Given the description of an element on the screen output the (x, y) to click on. 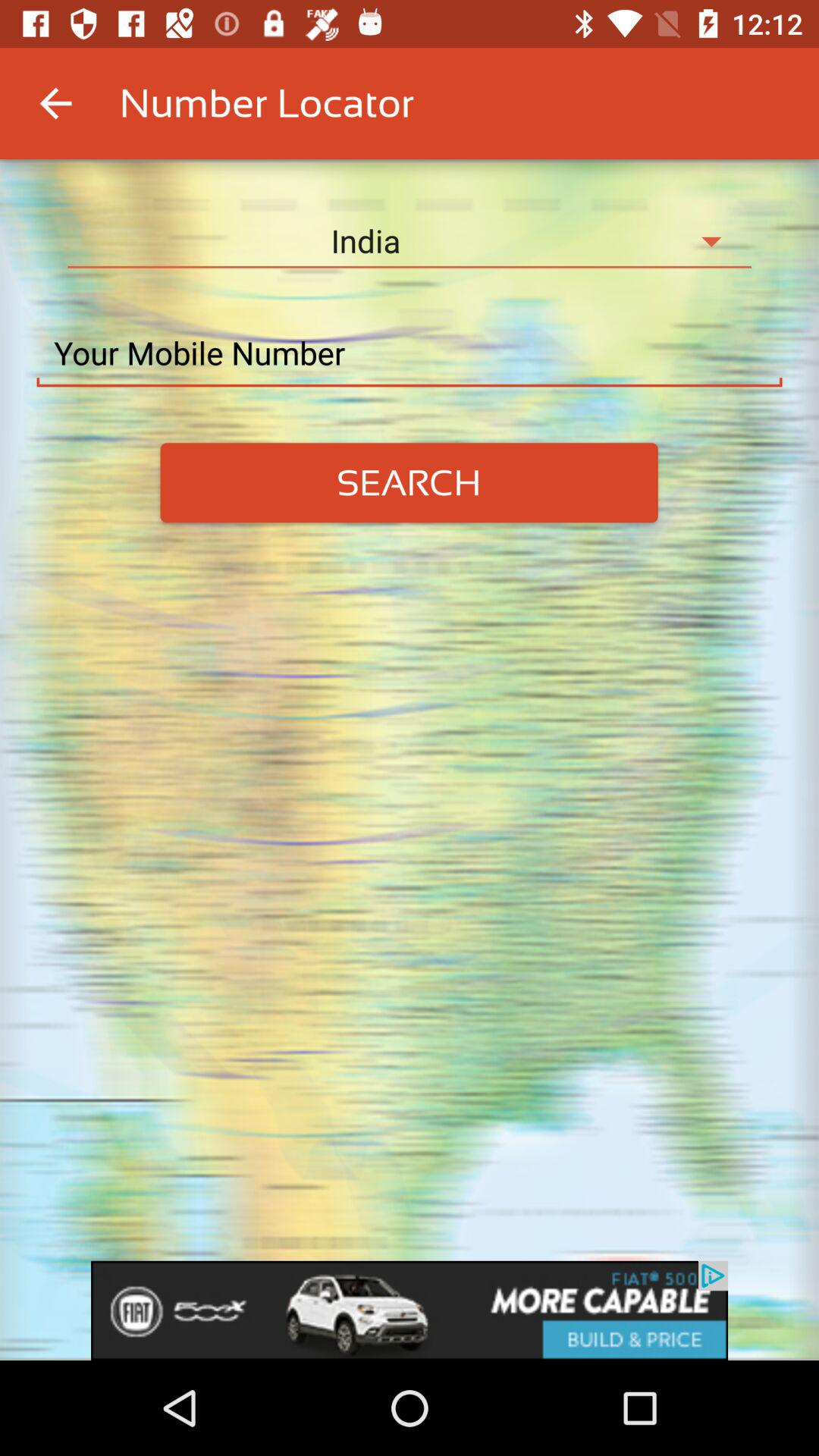
enter your mobile number (409, 353)
